Given the description of an element on the screen output the (x, y) to click on. 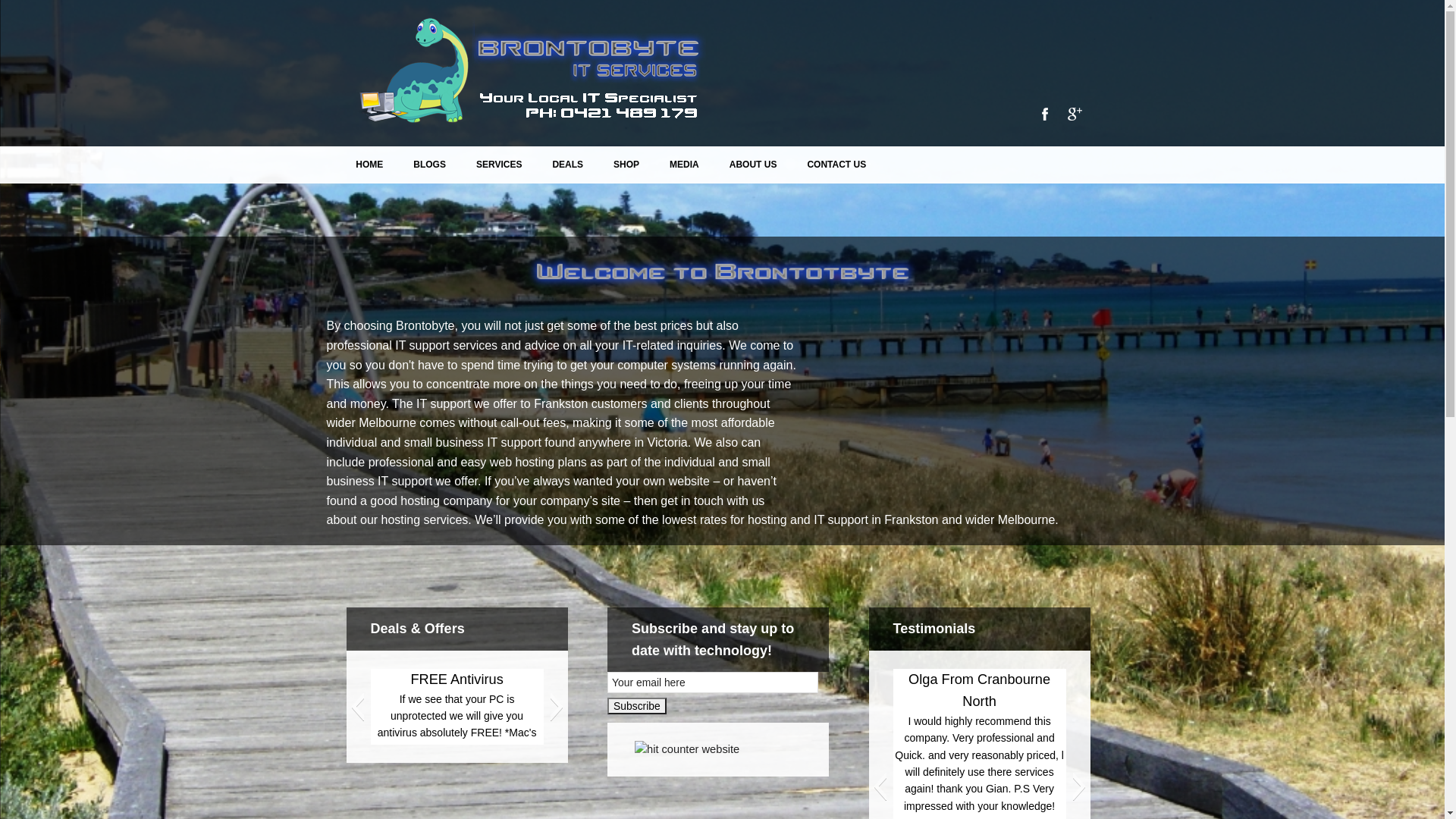
Facebook Element type: text (1043, 114)
SHOP Element type: text (626, 164)
SERVICES Element type: text (498, 164)
Google+ Element type: text (1073, 114)
Subscribe Element type: text (636, 705)
Refer Brontobyte and be rewarded! Element type: text (330, 690)
MEDIA Element type: text (684, 164)
CONTACT US Element type: text (836, 164)
ABOUT US Element type: text (753, 164)
BLOGS Element type: text (429, 164)
DEALS Element type: text (567, 164)
Click here to find out more Element type: text (329, 720)
Skip to content Element type: text (395, 155)
HOME Element type: text (369, 164)
